Given the description of an element on the screen output the (x, y) to click on. 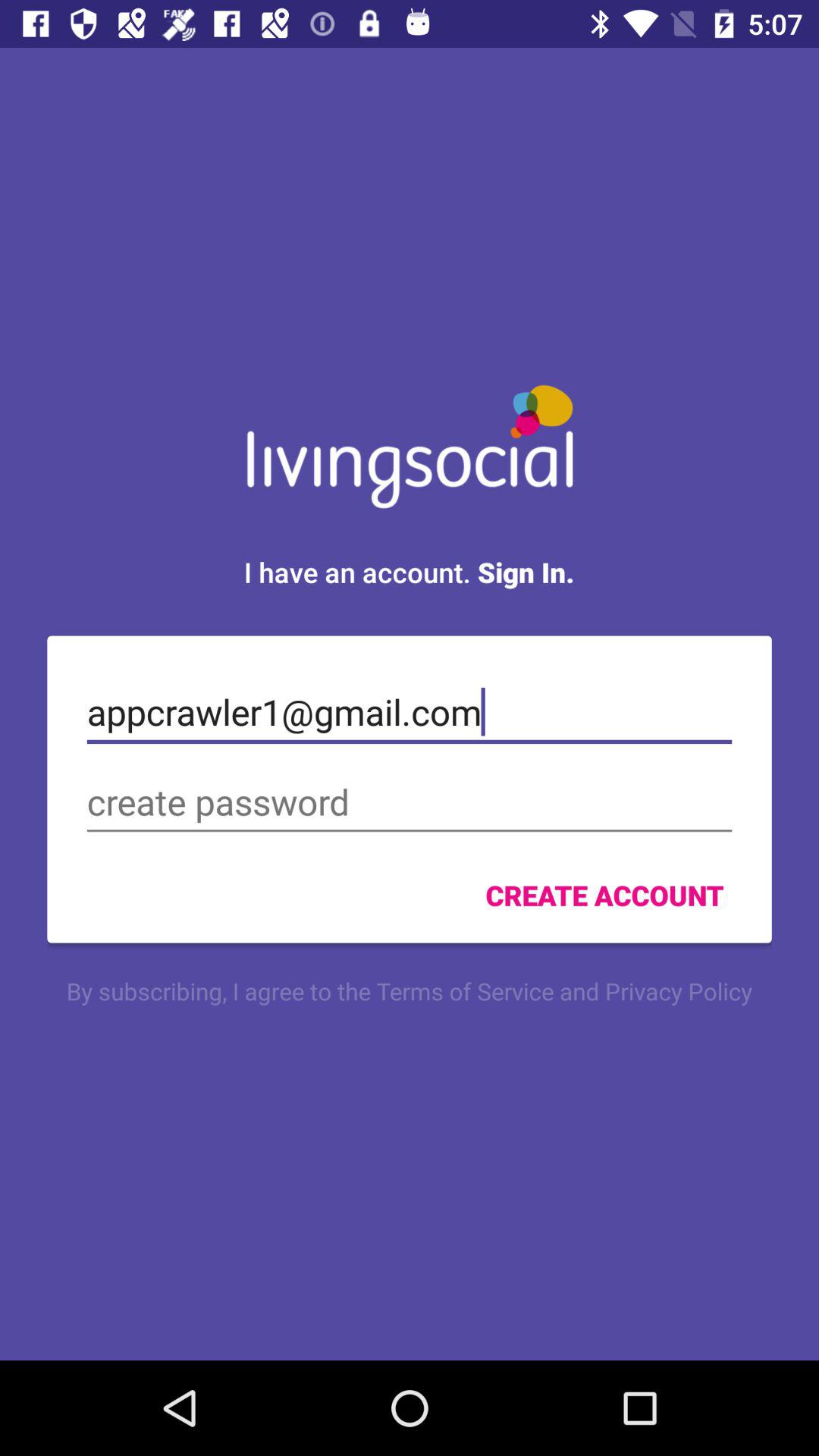
click create account (604, 894)
